Given the description of an element on the screen output the (x, y) to click on. 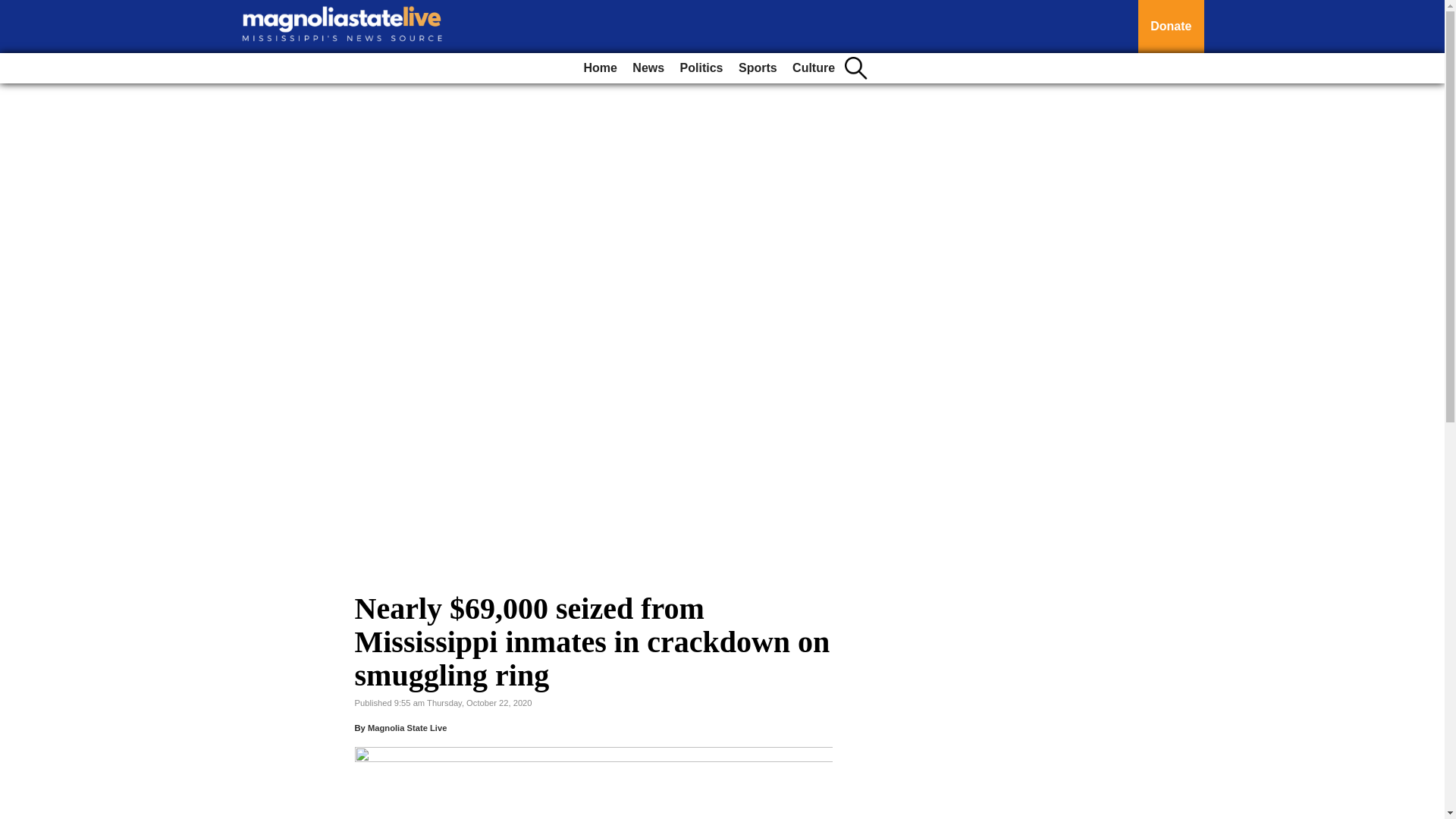
Go (13, 9)
Sports (757, 68)
Culture (813, 68)
Donate (1171, 26)
Magnolia State Live (407, 727)
News (647, 68)
Home (599, 68)
Politics (701, 68)
